Given the description of an element on the screen output the (x, y) to click on. 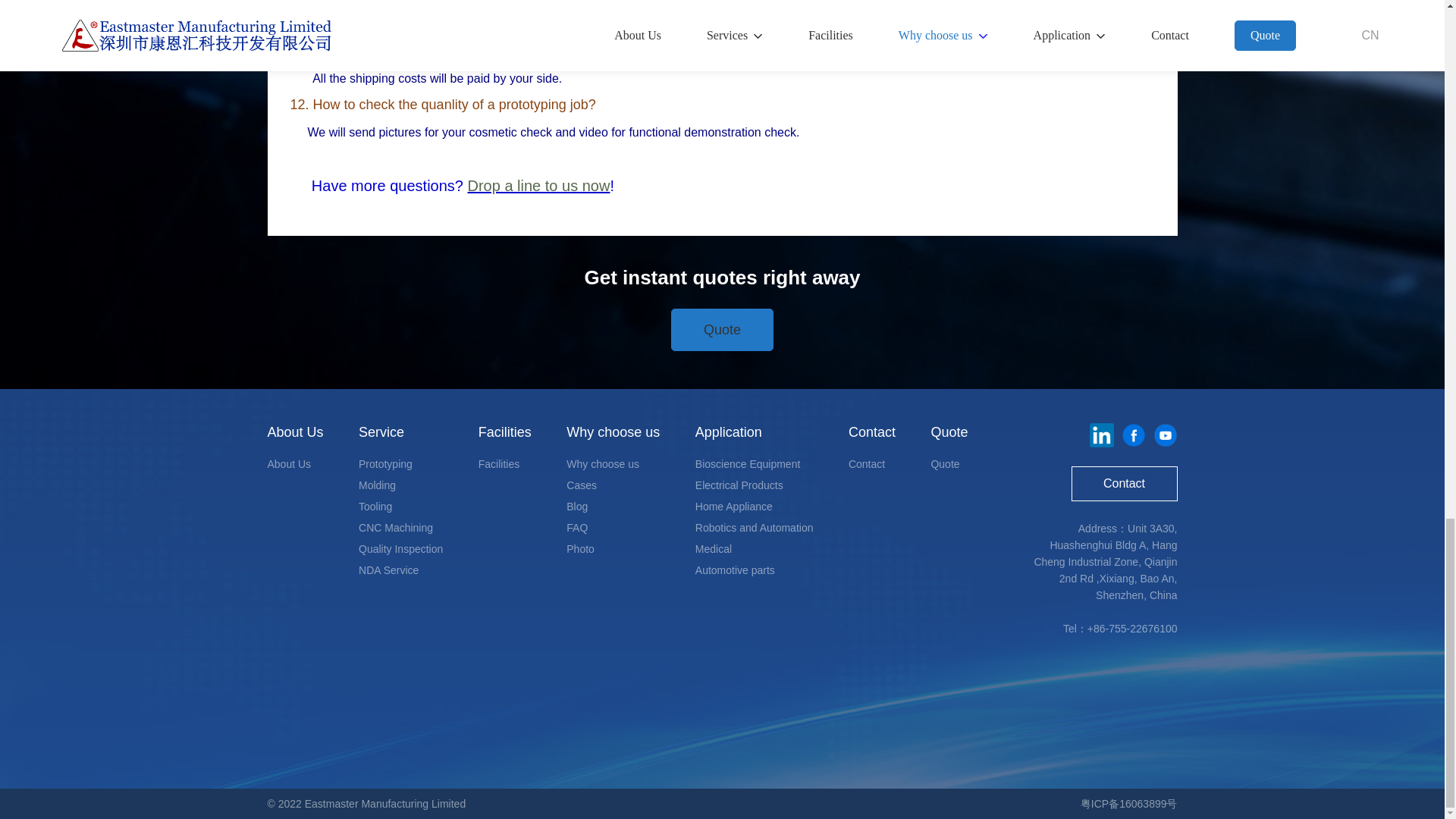
Quote (722, 329)
About Us (288, 463)
About Us (294, 432)
Service (381, 432)
Prototyping (385, 463)
Molding (377, 485)
Drop a line to us now (538, 185)
